Given the description of an element on the screen output the (x, y) to click on. 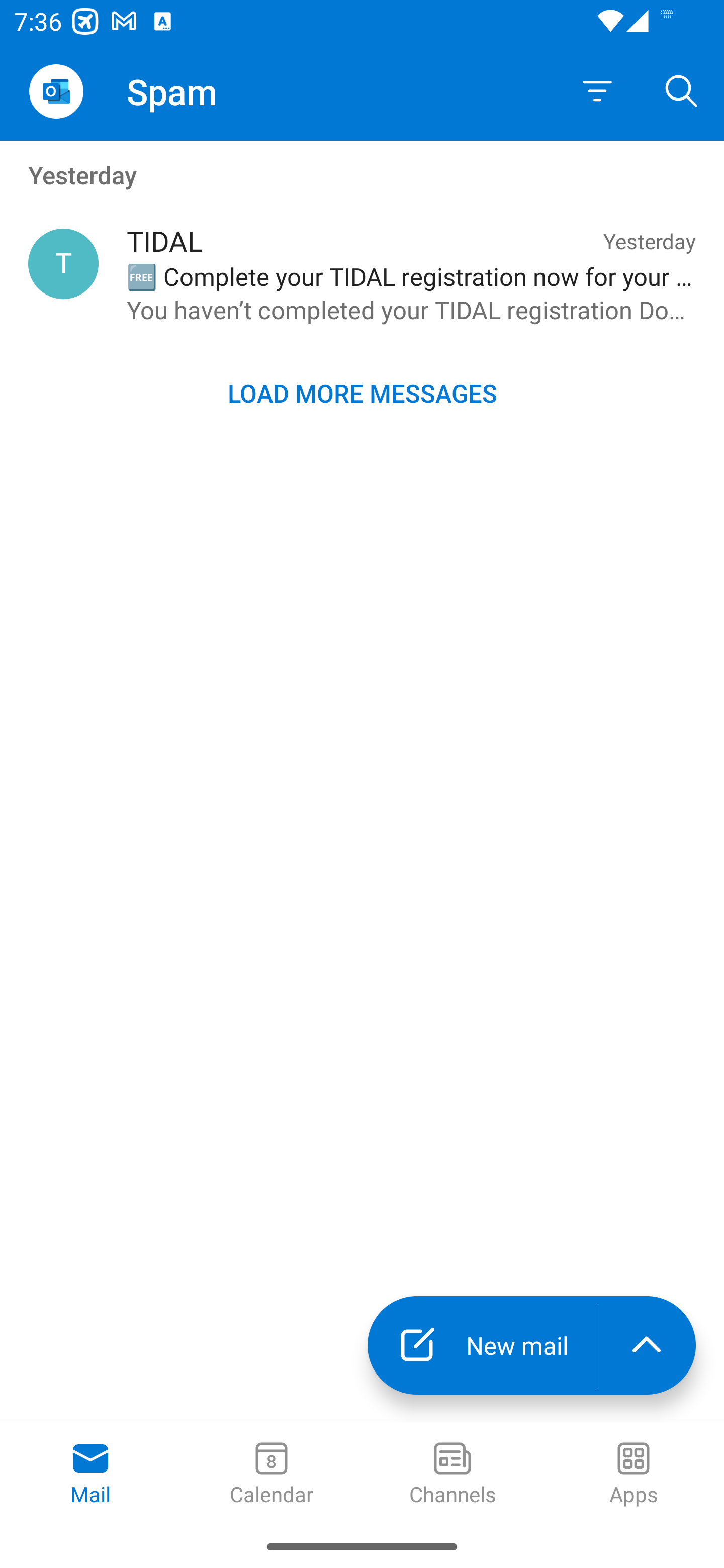
Search, ,  (681, 90)
Open Navigation Drawer (55, 91)
Filter (597, 91)
TIDAL, hello@email.tidal.com (63, 263)
LOAD MORE MESSAGES (362, 392)
New mail (481, 1344)
launch the extended action menu (646, 1344)
Calendar (271, 1474)
Channels (452, 1474)
Apps (633, 1474)
